Given the description of an element on the screen output the (x, y) to click on. 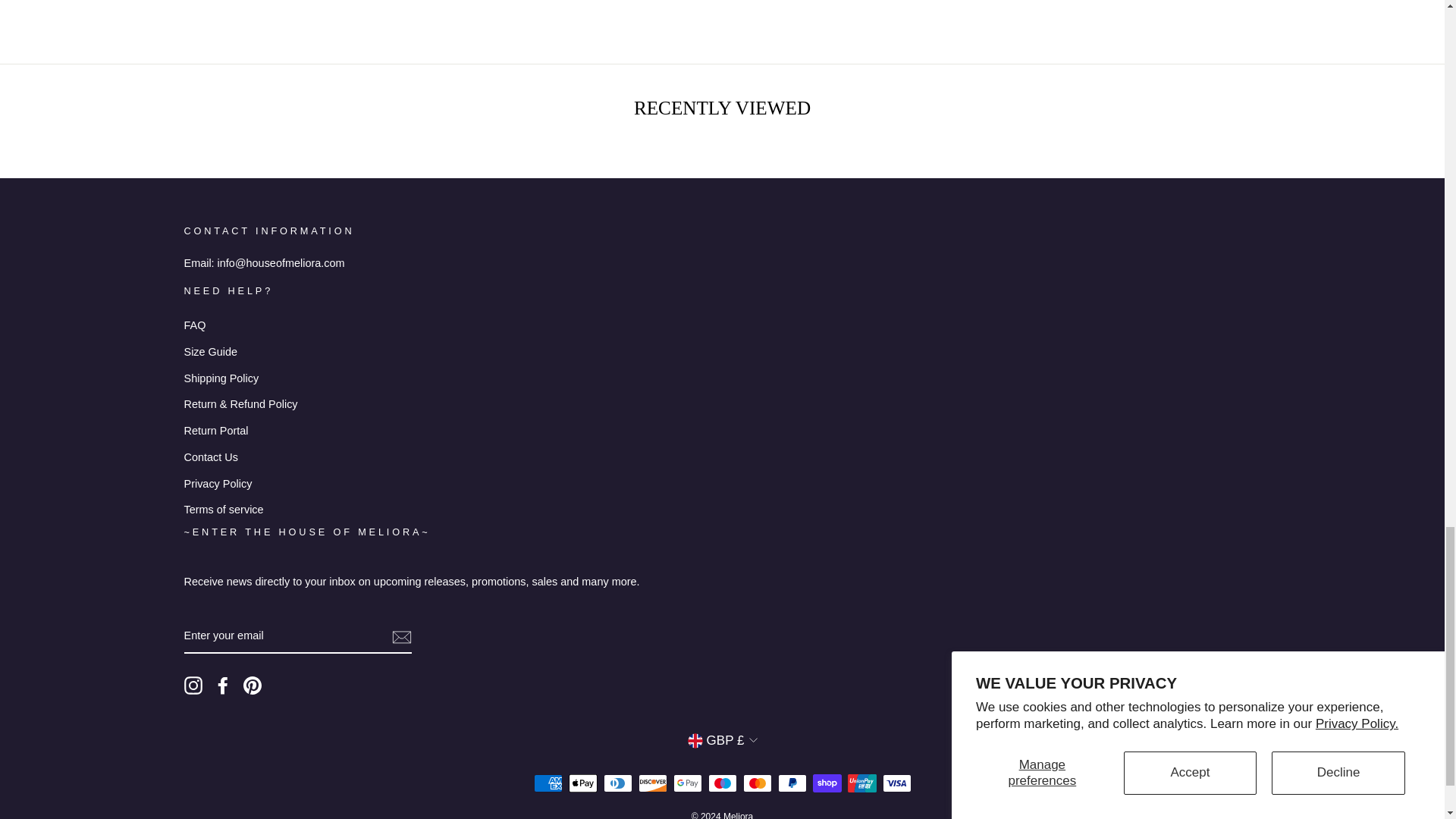
Meliora on Pinterest (251, 685)
Meliora on Instagram (192, 685)
Meliora on Facebook (222, 685)
